Given the description of an element on the screen output the (x, y) to click on. 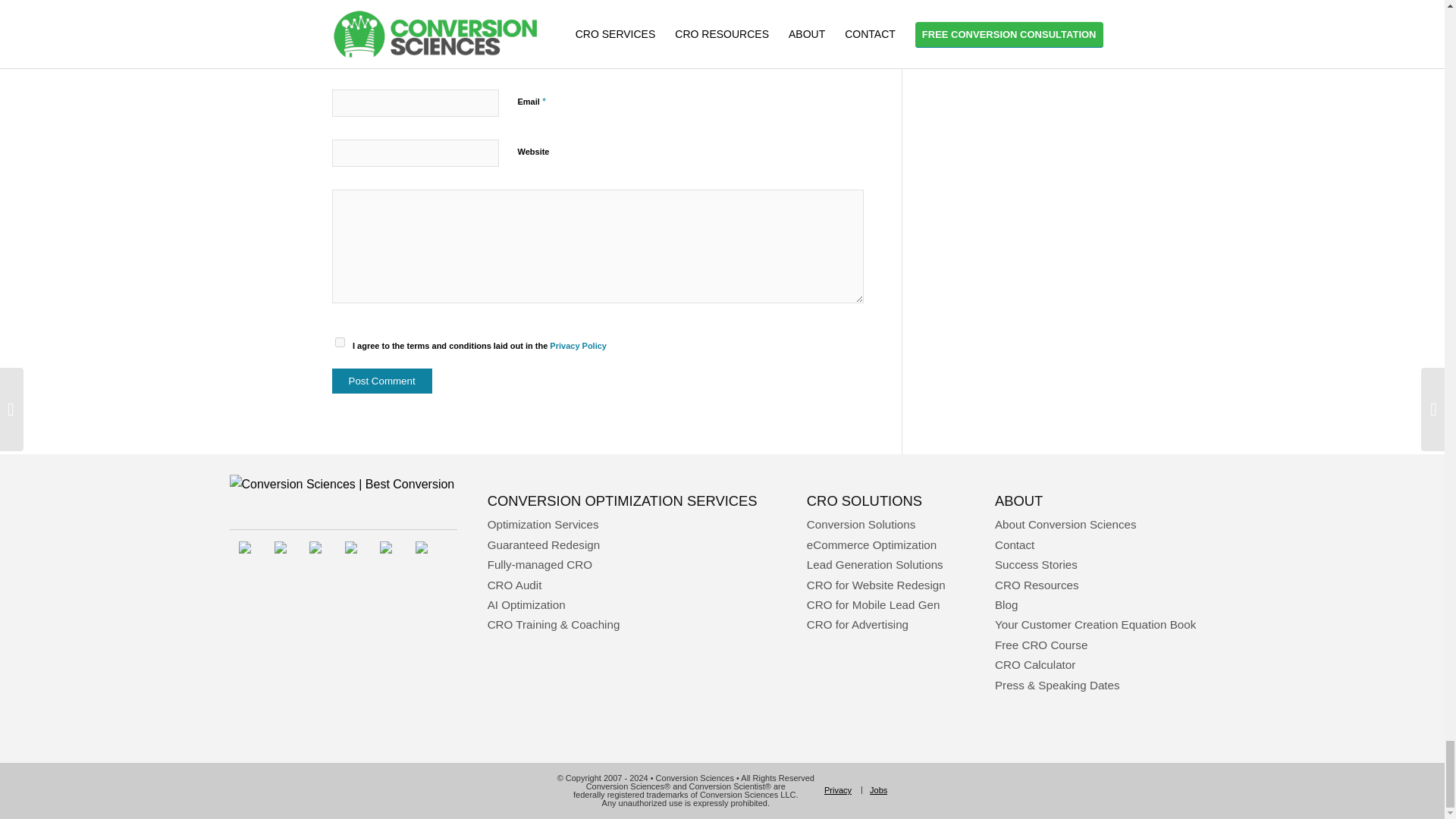
yes (339, 342)
Post Comment (381, 380)
